Given the description of an element on the screen output the (x, y) to click on. 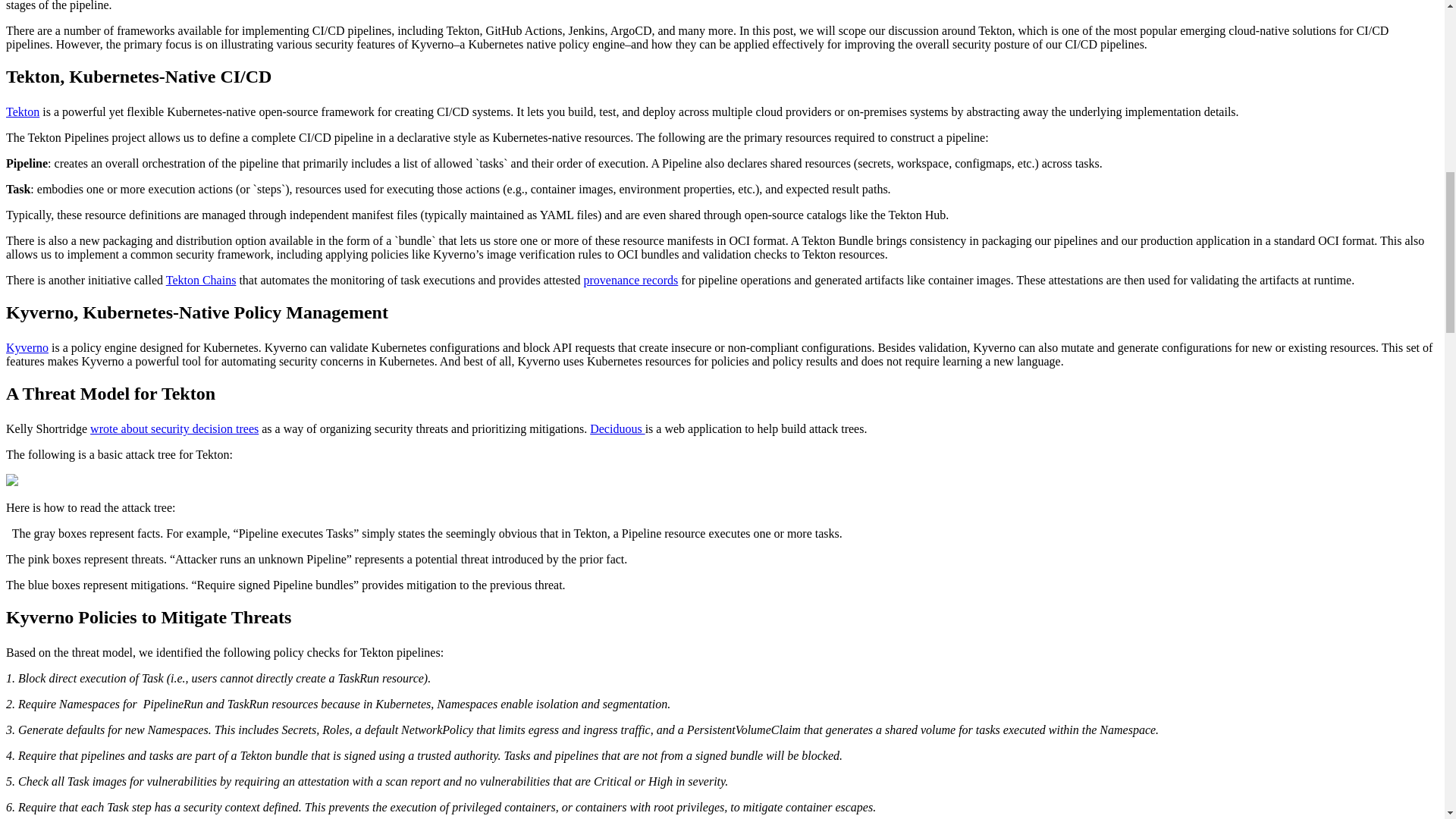
provenance records (630, 279)
Tekton (22, 111)
Tekton Chains (200, 279)
